Given the description of an element on the screen output the (x, y) to click on. 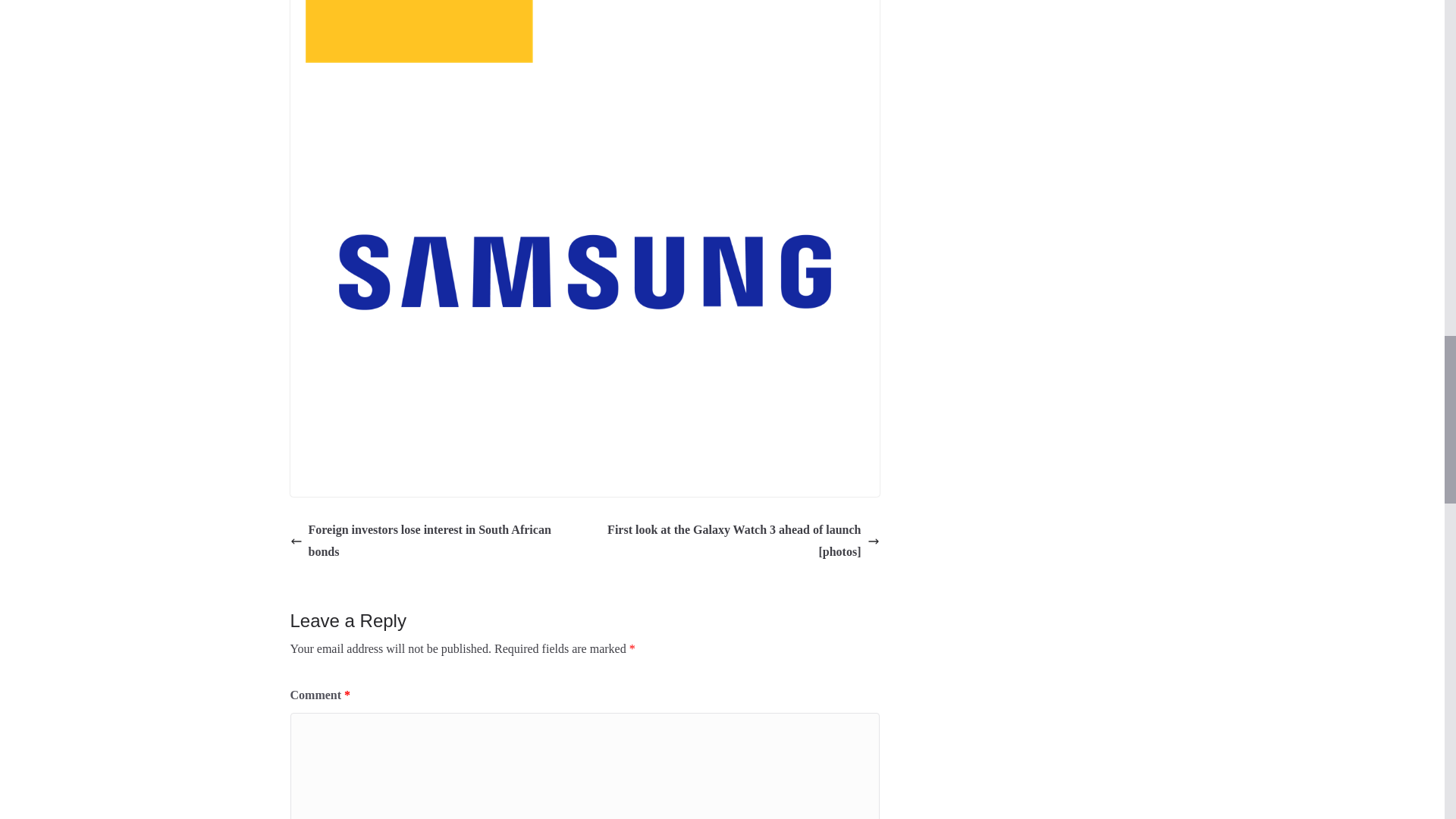
Foreign investors lose interest in South African bonds (432, 541)
